Given the description of an element on the screen output the (x, y) to click on. 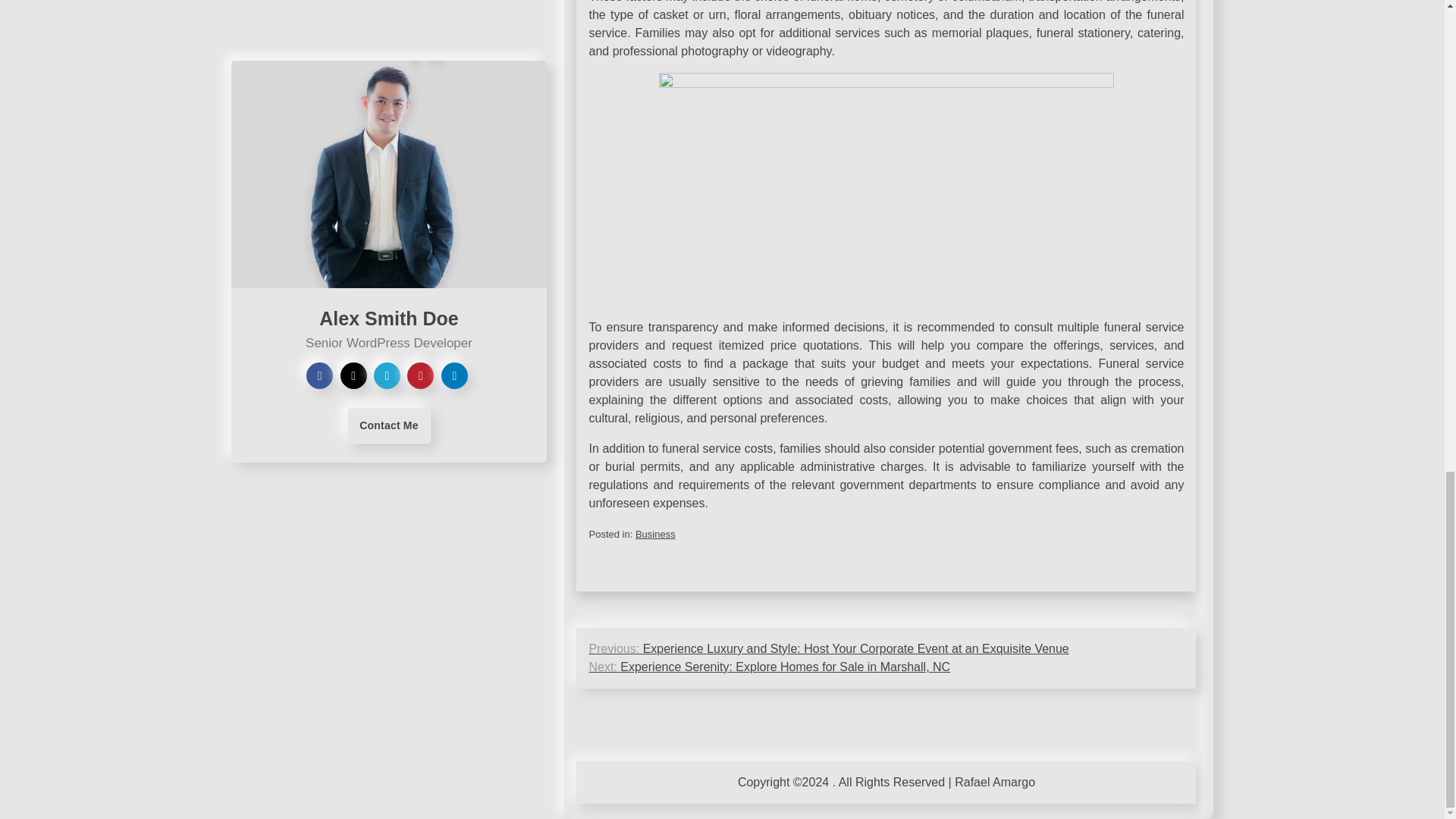
Business (654, 533)
